Given the description of an element on the screen output the (x, y) to click on. 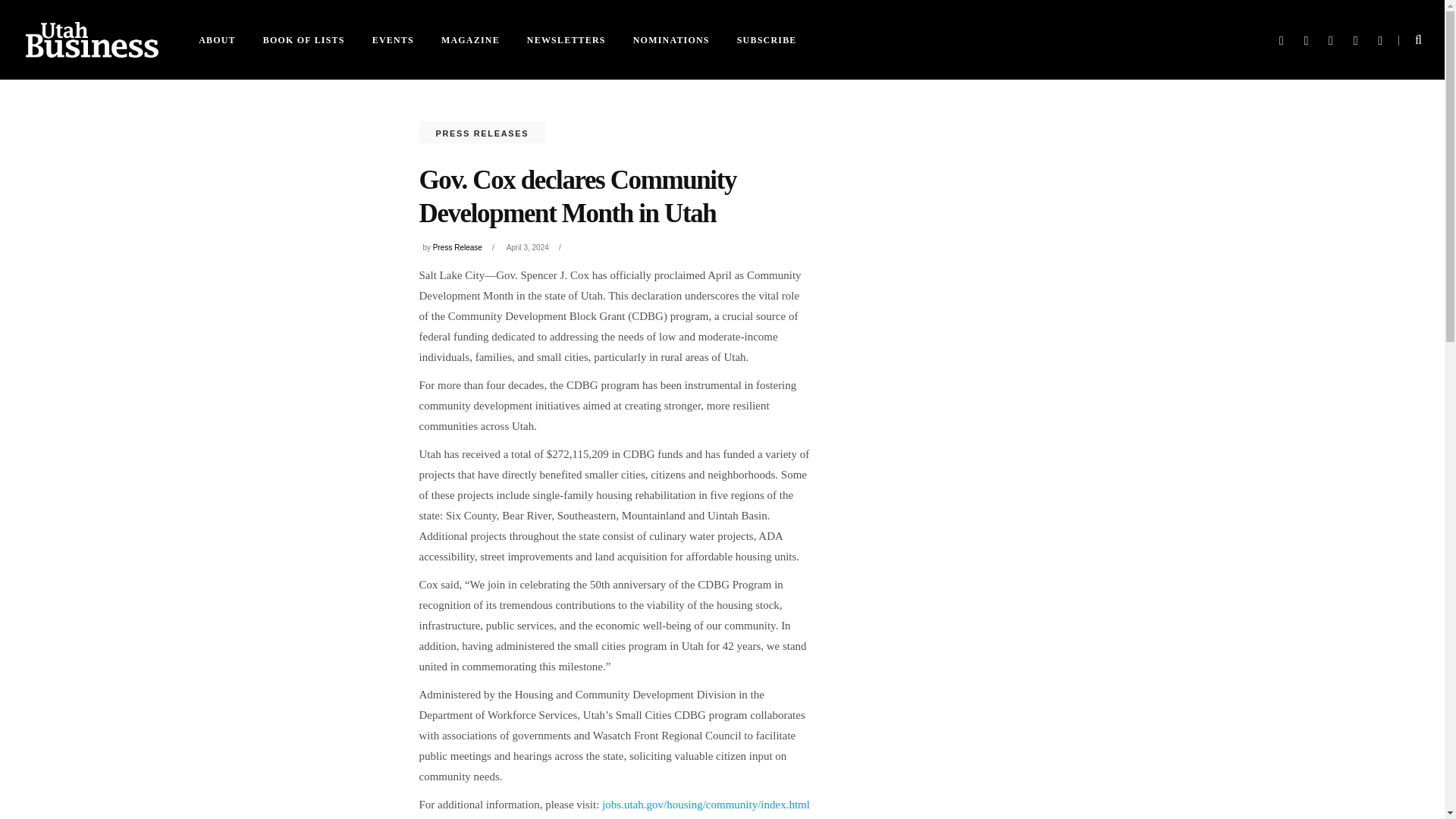
NOMINATIONS (671, 39)
SUBSCRIBE (766, 39)
BOOK OF LISTS (303, 39)
Press Release (456, 247)
PRESS RELEASES (481, 133)
April 3, 2024 (527, 247)
NEWSLETTERS (566, 39)
MAGAZINE (470, 39)
